Given the description of an element on the screen output the (x, y) to click on. 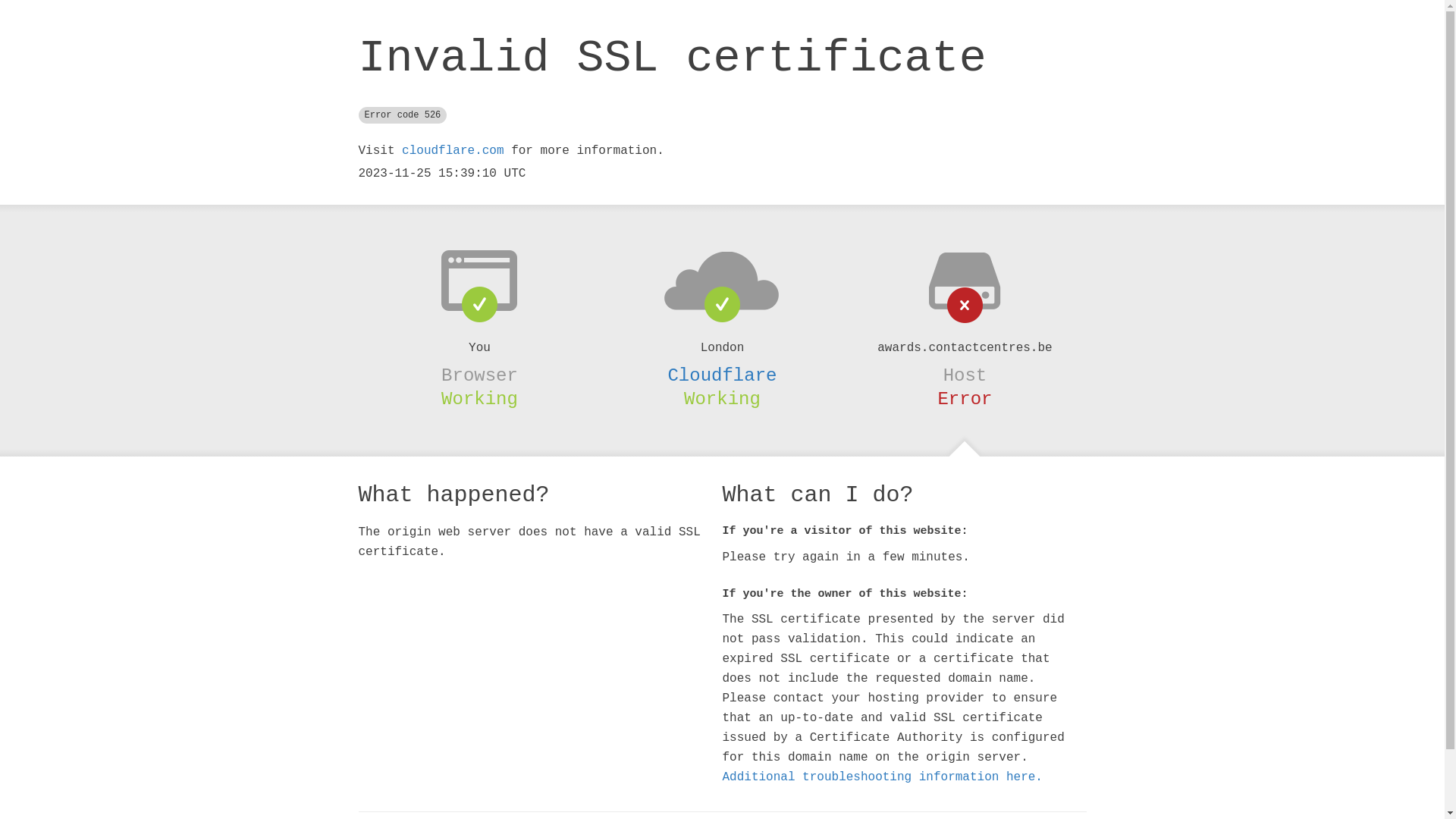
cloudflare.com Element type: text (452, 150)
Additional troubleshooting information here. Element type: text (881, 777)
Cloudflare Element type: text (721, 375)
